Given the description of an element on the screen output the (x, y) to click on. 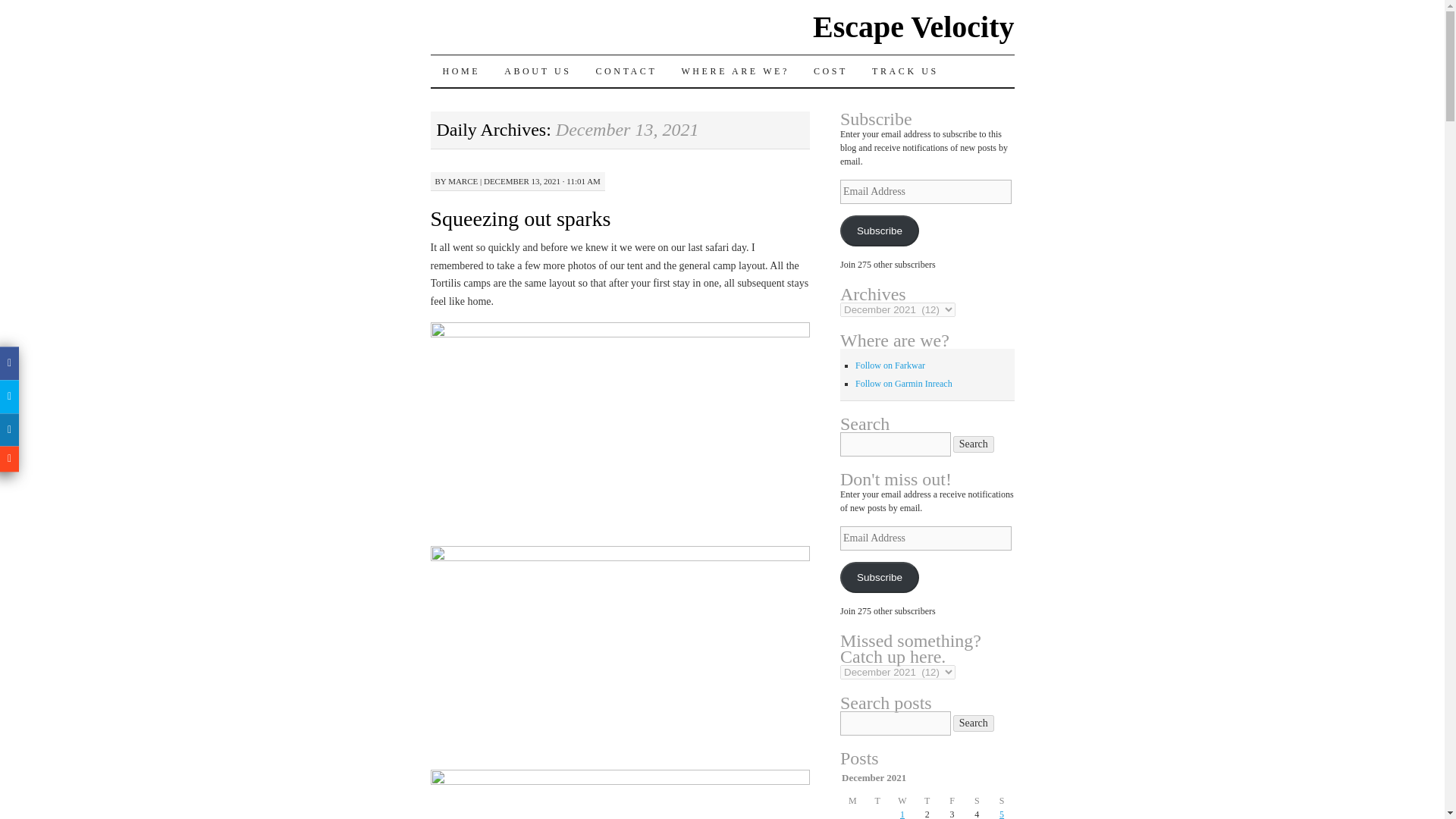
ABOUT US (537, 70)
Search (973, 443)
Friday (951, 800)
HOME (461, 70)
Thursday (926, 800)
Tuesday (876, 800)
Search (973, 723)
Search (973, 723)
Follow on Farkwar (890, 365)
Subscribe (879, 230)
